Given the description of an element on the screen output the (x, y) to click on. 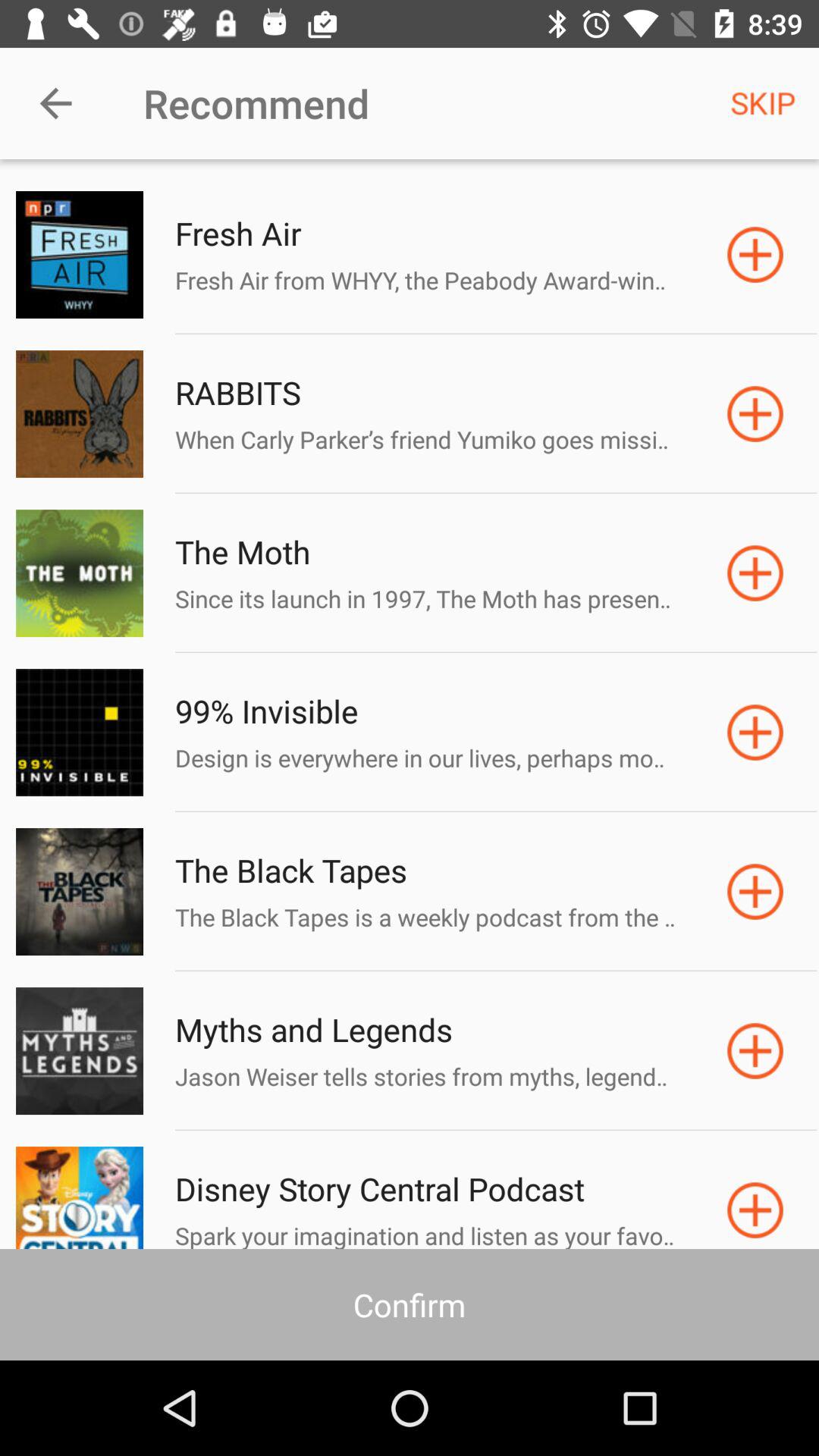
launch the icon next to recommend icon (763, 103)
